Given the description of an element on the screen output the (x, y) to click on. 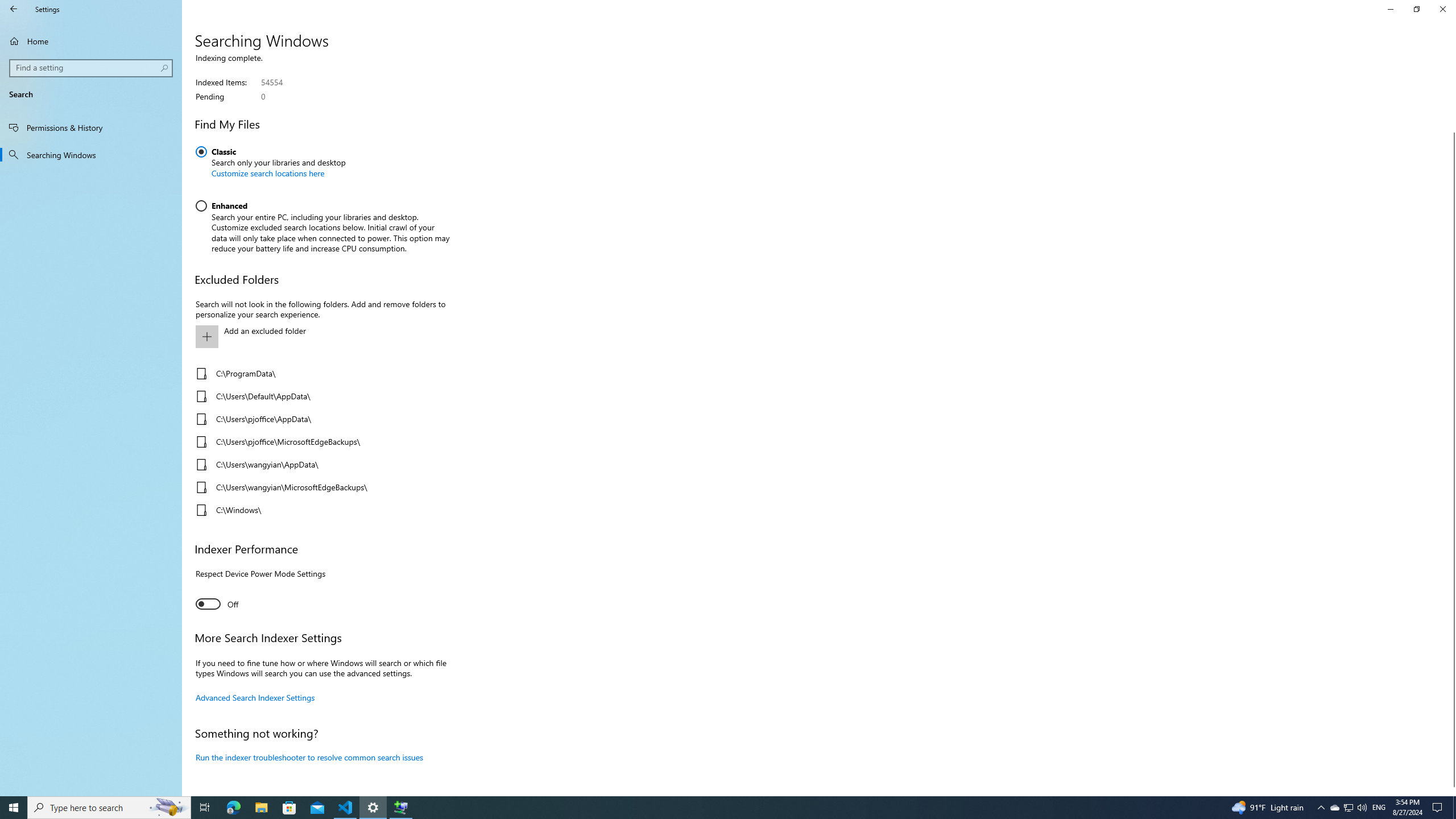
Permissions & History (91, 126)
Classic. Search only your libraries and desktop (270, 166)
C:\Windows\ (319, 509)
Give feedback (1348, 1)
C:\Users\wangyian\MicrosoftEdgeBackups\ (319, 486)
Vertical Small Increase (1451, 791)
